Given the description of an element on the screen output the (x, y) to click on. 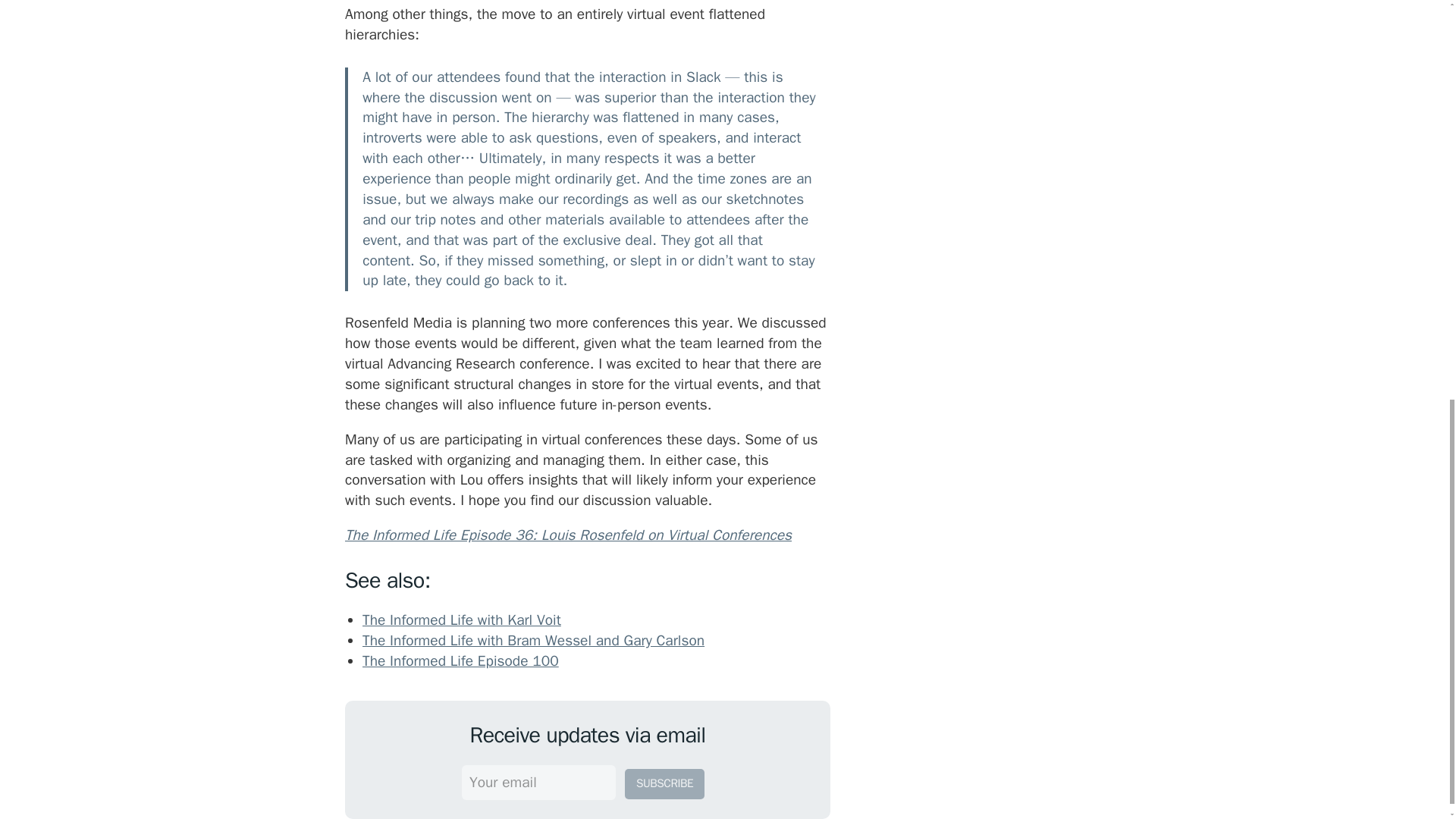
Subscribe (664, 784)
The Informed Life with Bram Wessel and Gary Carlson (533, 640)
Subscribe (664, 784)
The Informed Life Episode 100 (460, 660)
Your email (538, 782)
The Informed Life with Karl Voit (461, 619)
